Given the description of an element on the screen output the (x, y) to click on. 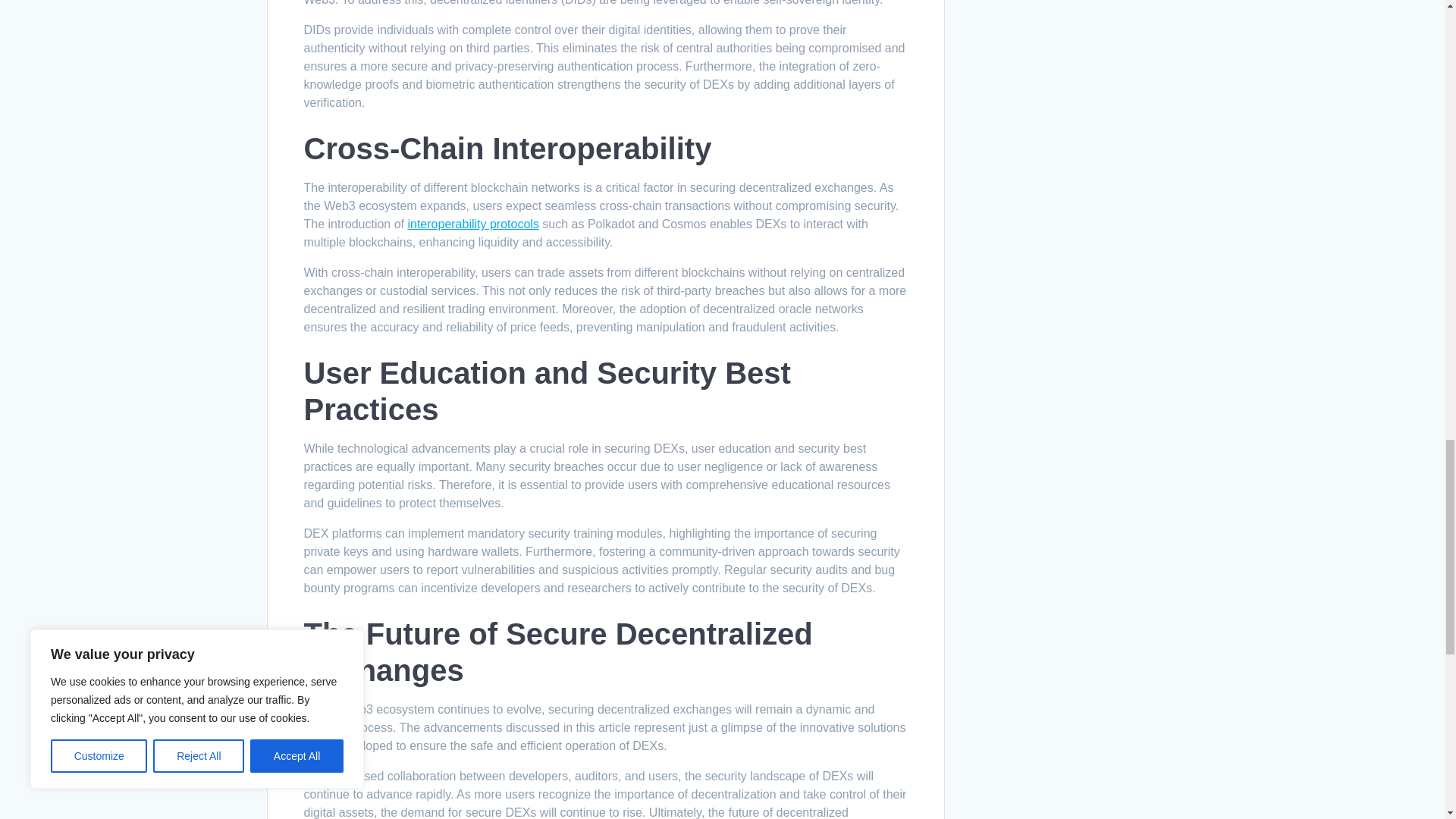
interoperability protocols (472, 223)
